Given the description of an element on the screen output the (x, y) to click on. 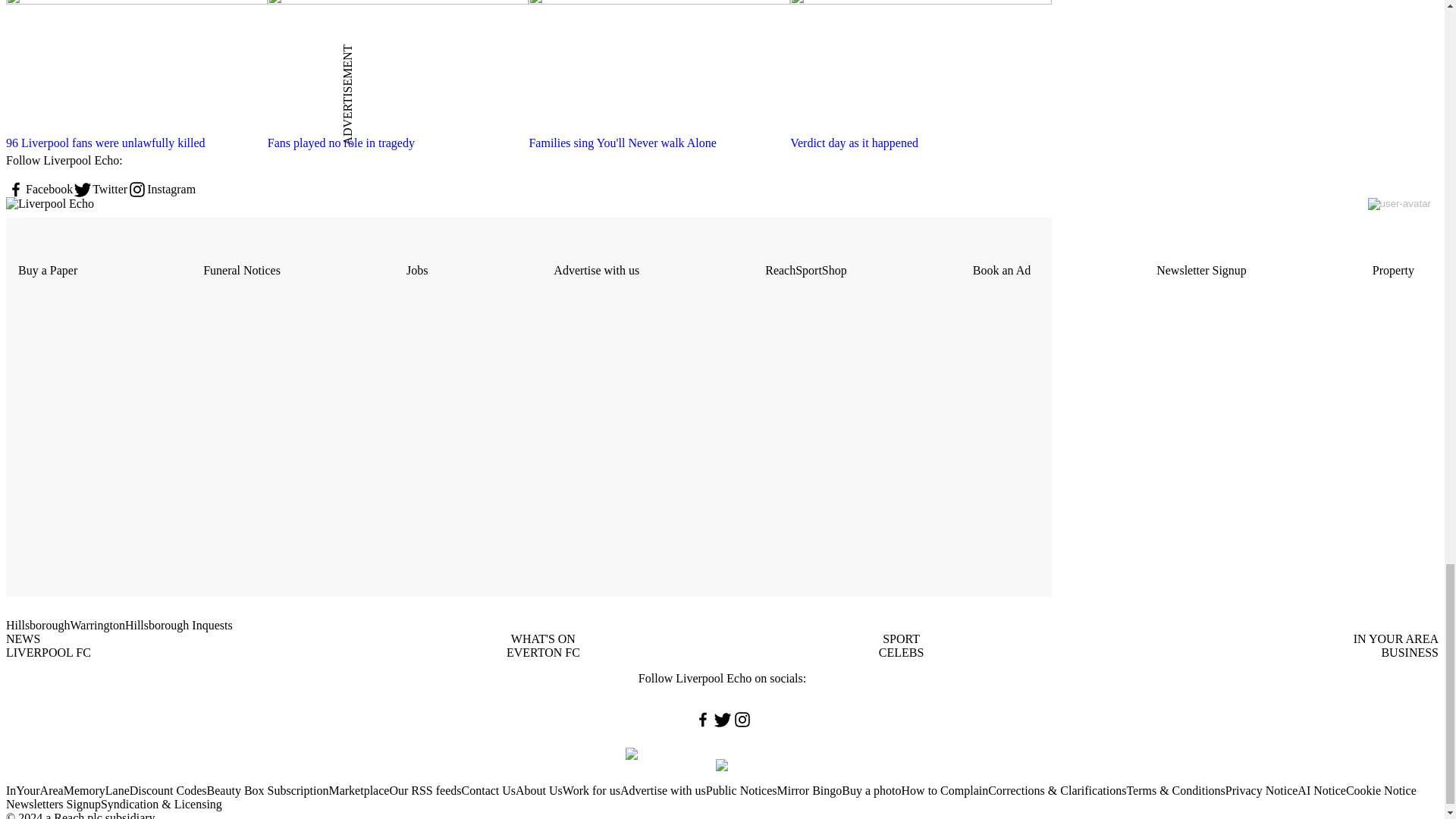
Facebook (38, 189)
Verdict day as it happened (920, 142)
Families sing You'll Never walk Alone (659, 142)
Instagram (161, 189)
Fans played no role in tragedy (398, 142)
96 Liverpool fans were unlawfully killed (136, 142)
Twitter (100, 189)
